Given the description of an element on the screen output the (x, y) to click on. 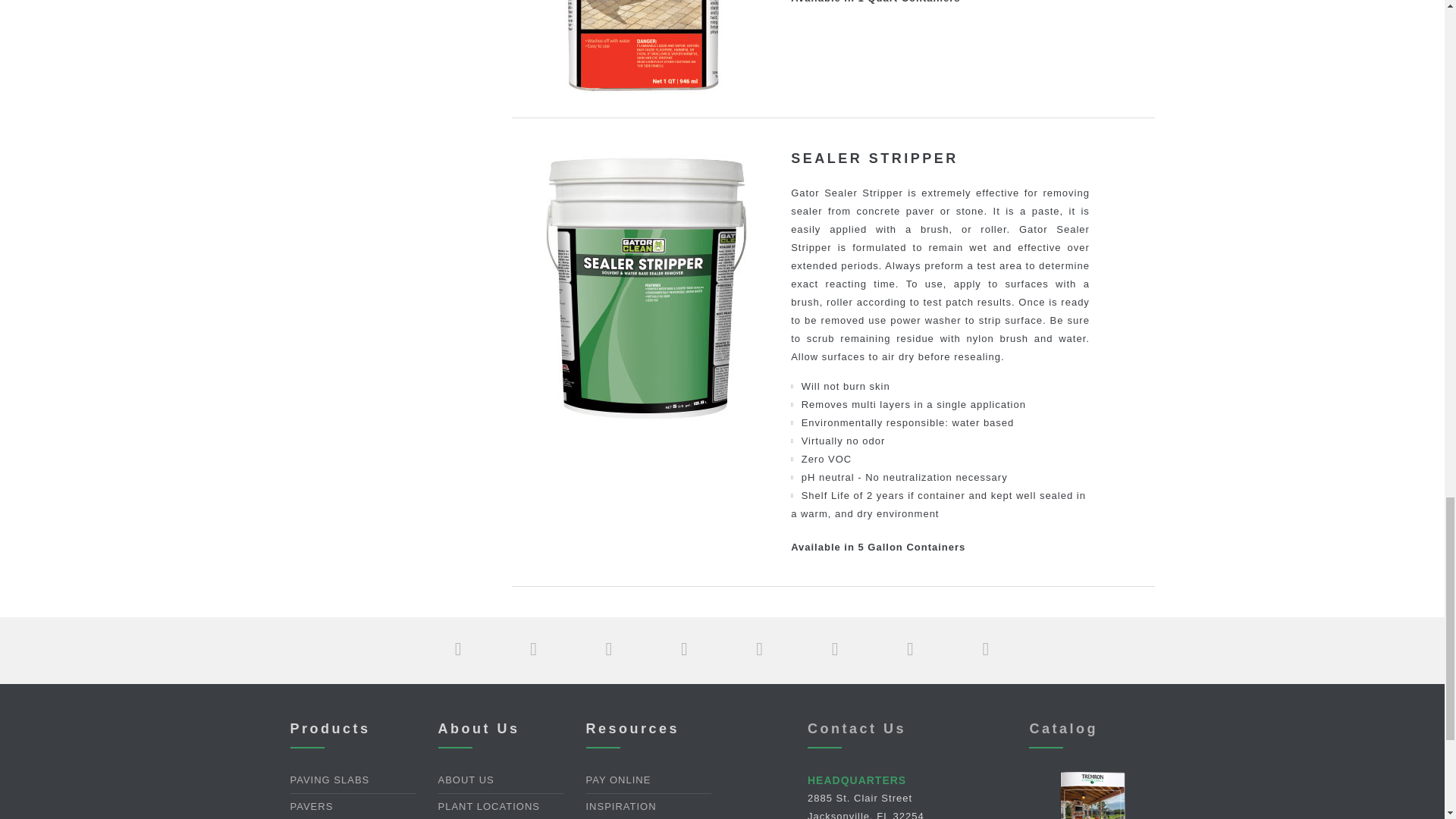
Harscape Book Vol 14 (1091, 816)
Rubber, Paint, Tar Remover (645, 49)
